Given the description of an element on the screen output the (x, y) to click on. 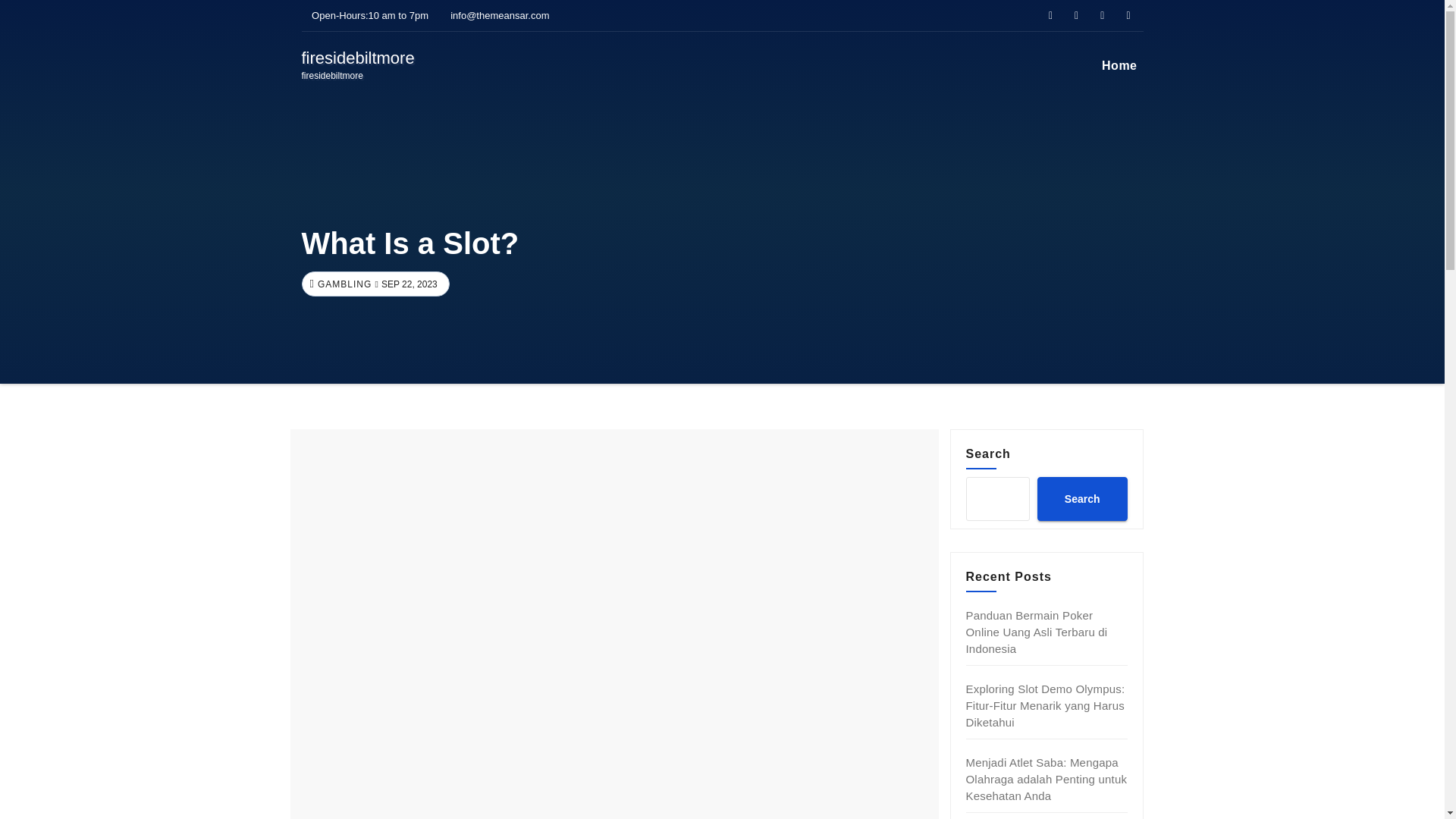
Open-Hours:10 am to 7pm (365, 15)
Panduan Bermain Poker Online Uang Asli Terbaru di Indonesia (1037, 632)
GAMBLING (357, 65)
Search (342, 284)
